Given the description of an element on the screen output the (x, y) to click on. 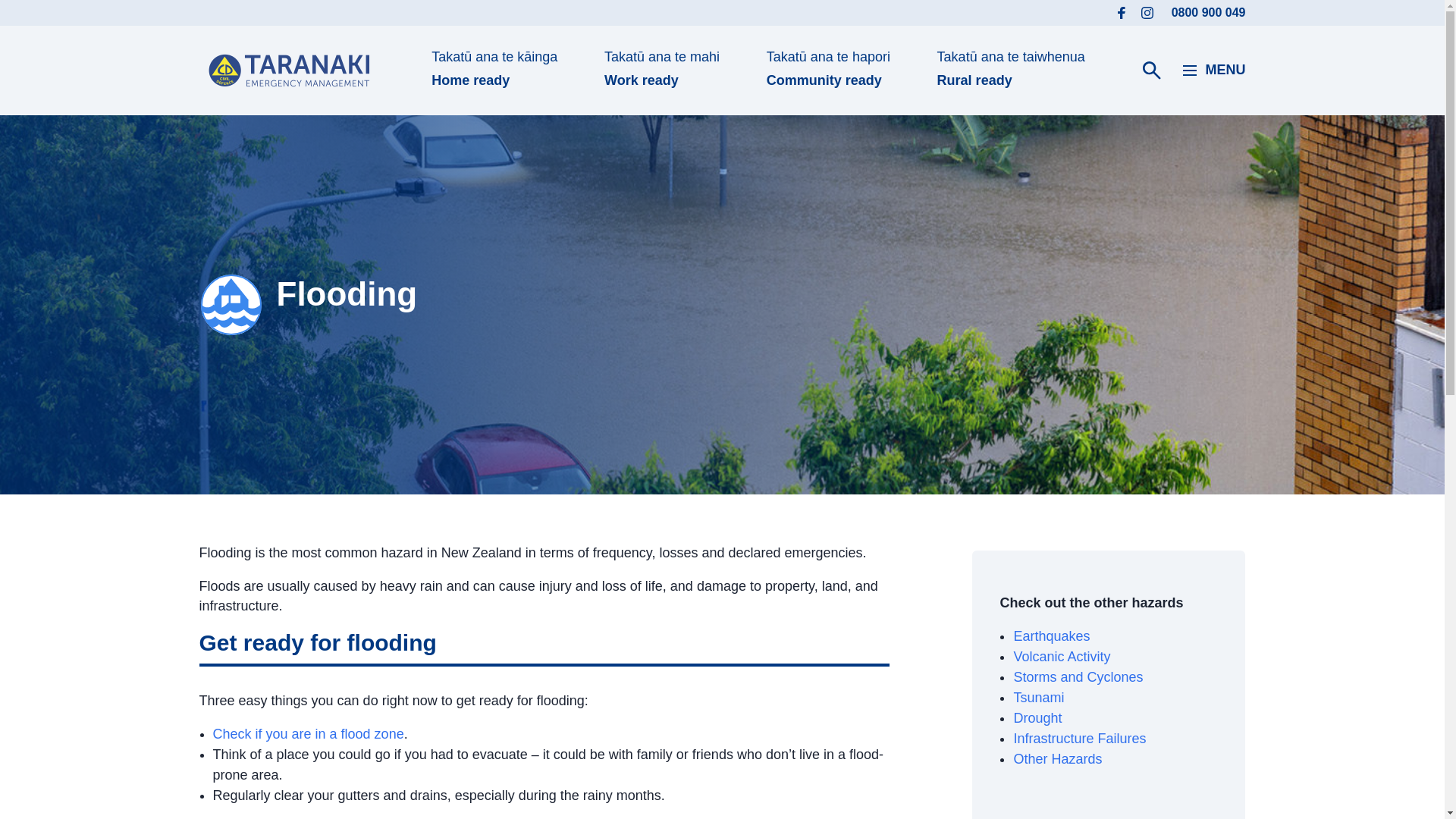
Other Hazards (1057, 758)
0800 900 049 (1209, 12)
Tsunami (1214, 70)
Volcanic activity (1038, 697)
Storms and Cyclones (1061, 656)
Earthquakes (1077, 676)
Infrastructure failures (1051, 635)
Drought (1079, 738)
